Given the description of an element on the screen output the (x, y) to click on. 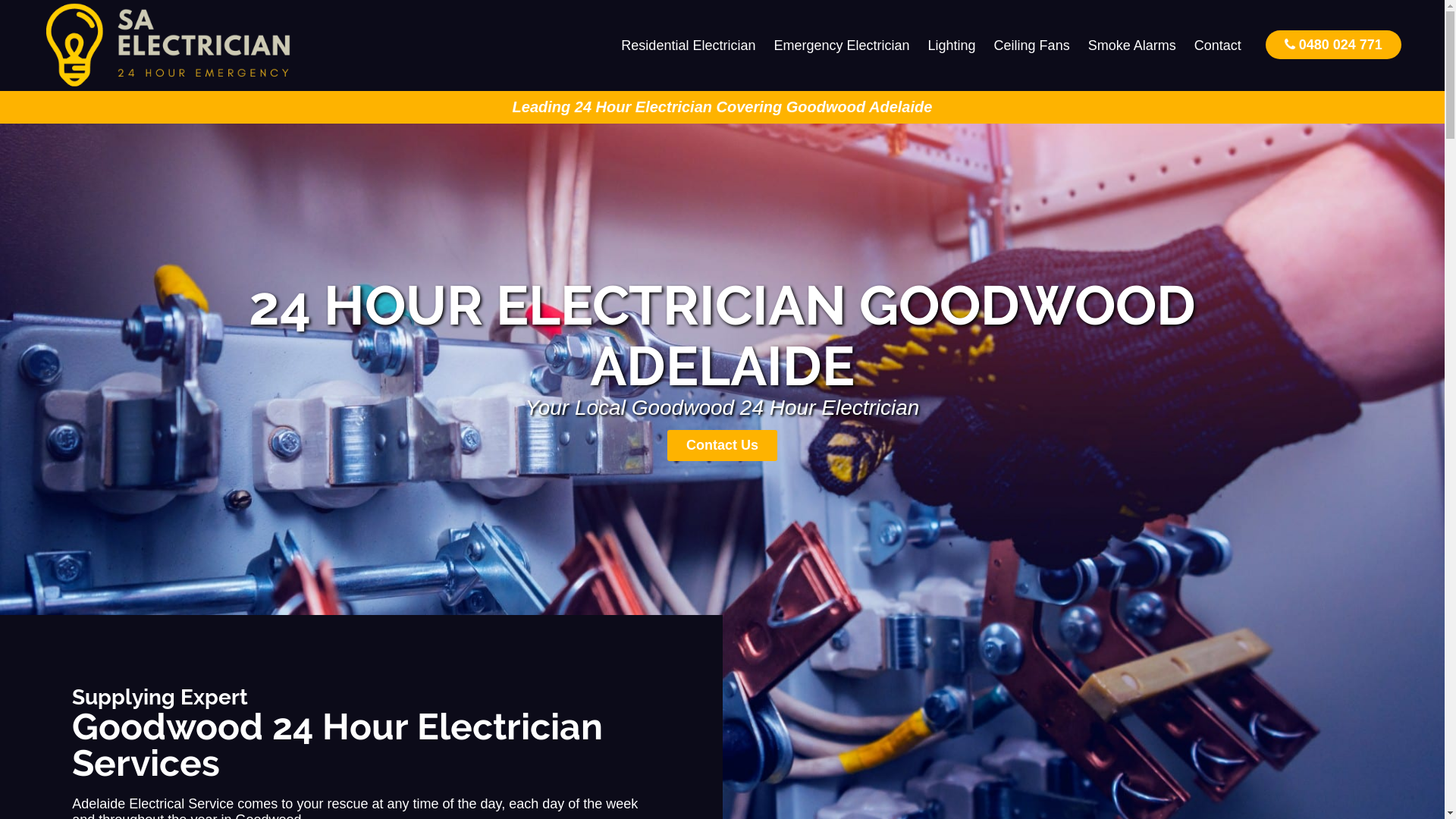
Smoke Alarms Element type: text (1132, 45)
Ceiling Fans Element type: text (1032, 45)
Lighting Element type: text (952, 45)
Contact Element type: text (1217, 45)
0480 024 771 Element type: text (1333, 44)
Emergency Electrician Element type: text (841, 45)
Residential Electrician Element type: text (687, 45)
Contact Us Element type: text (722, 445)
